Given the description of an element on the screen output the (x, y) to click on. 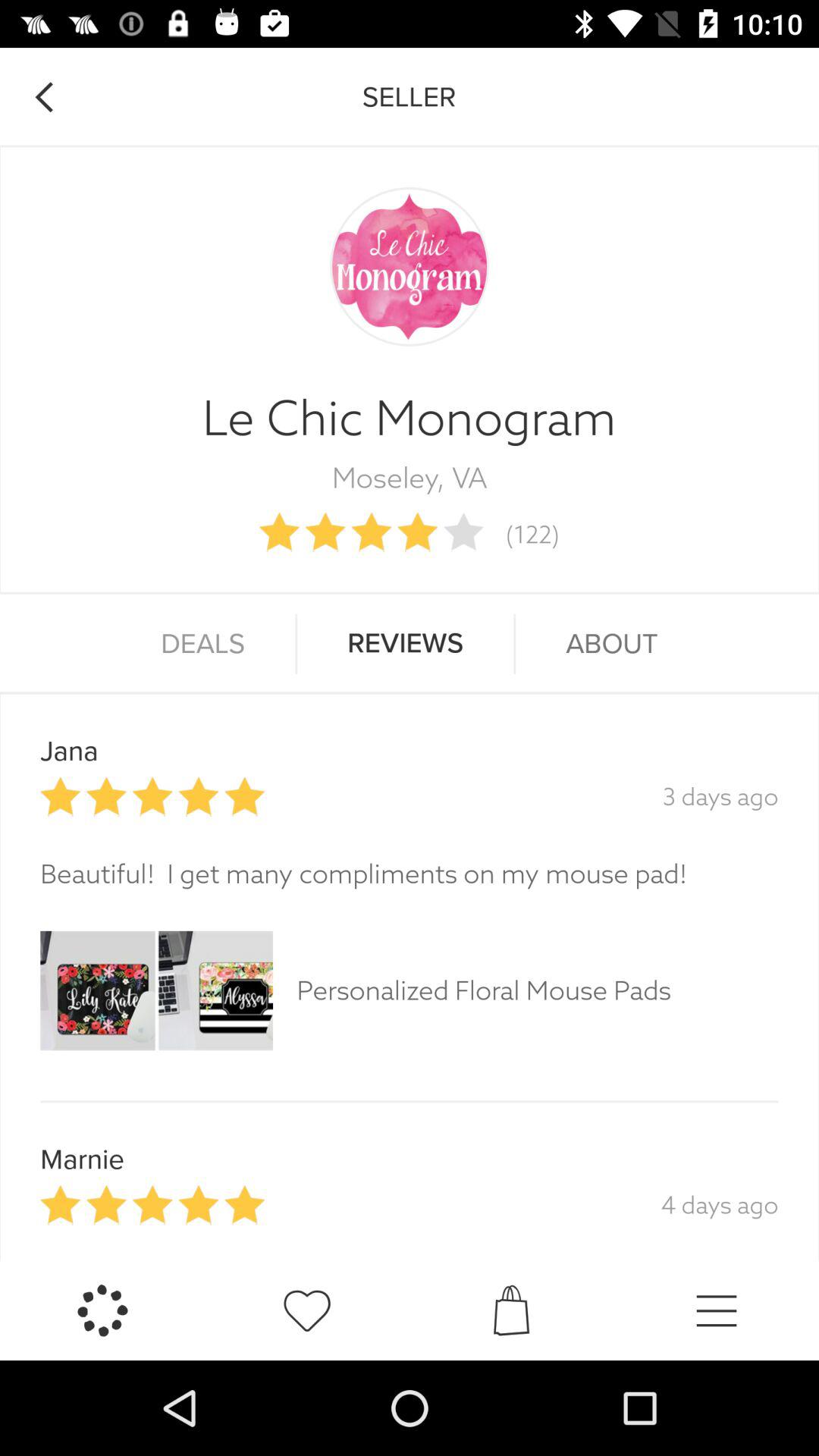
open the item above le chic monogram item (43, 97)
